Given the description of an element on the screen output the (x, y) to click on. 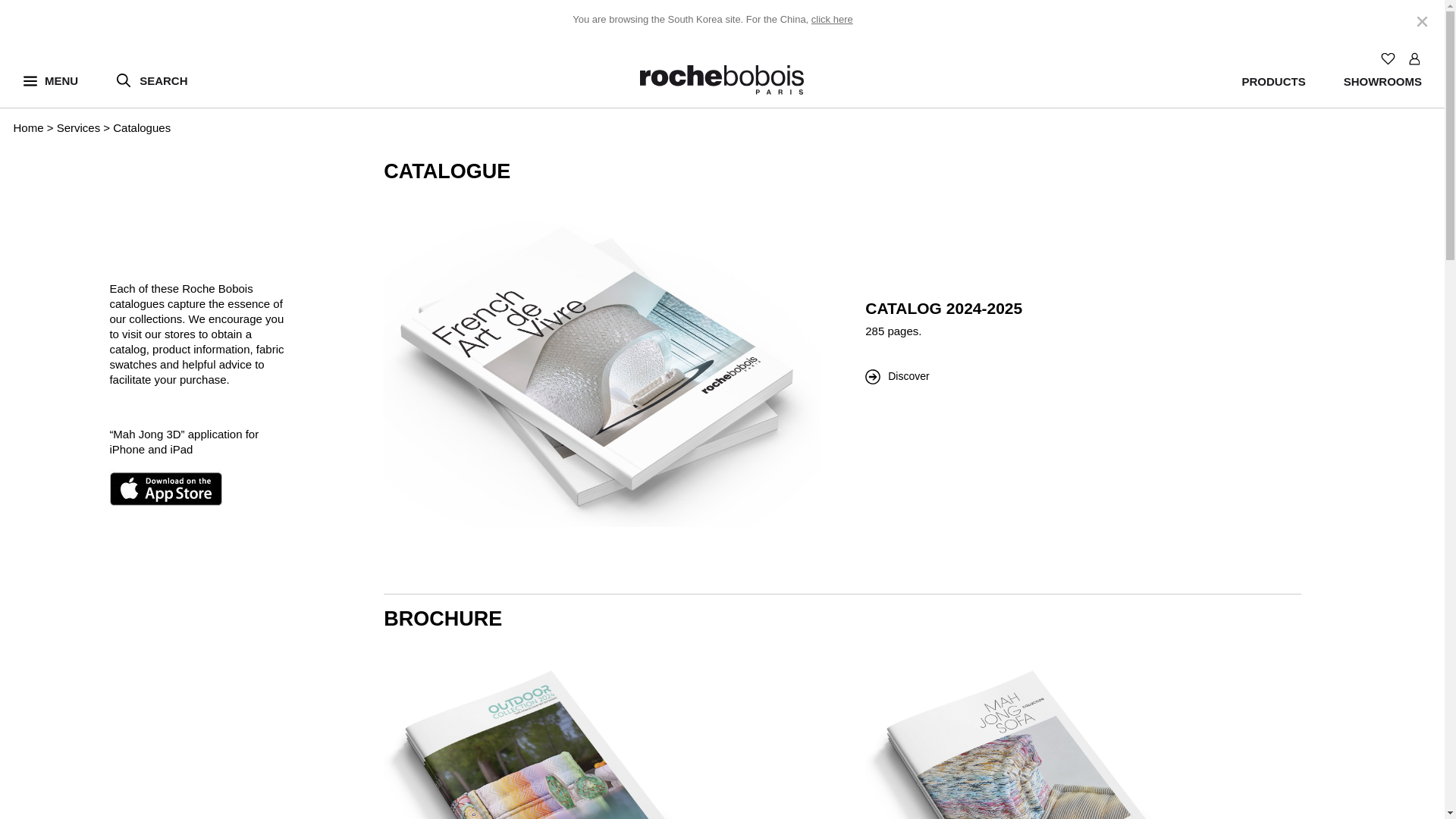
MENU (50, 80)
click here (831, 19)
